Given the description of an element on the screen output the (x, y) to click on. 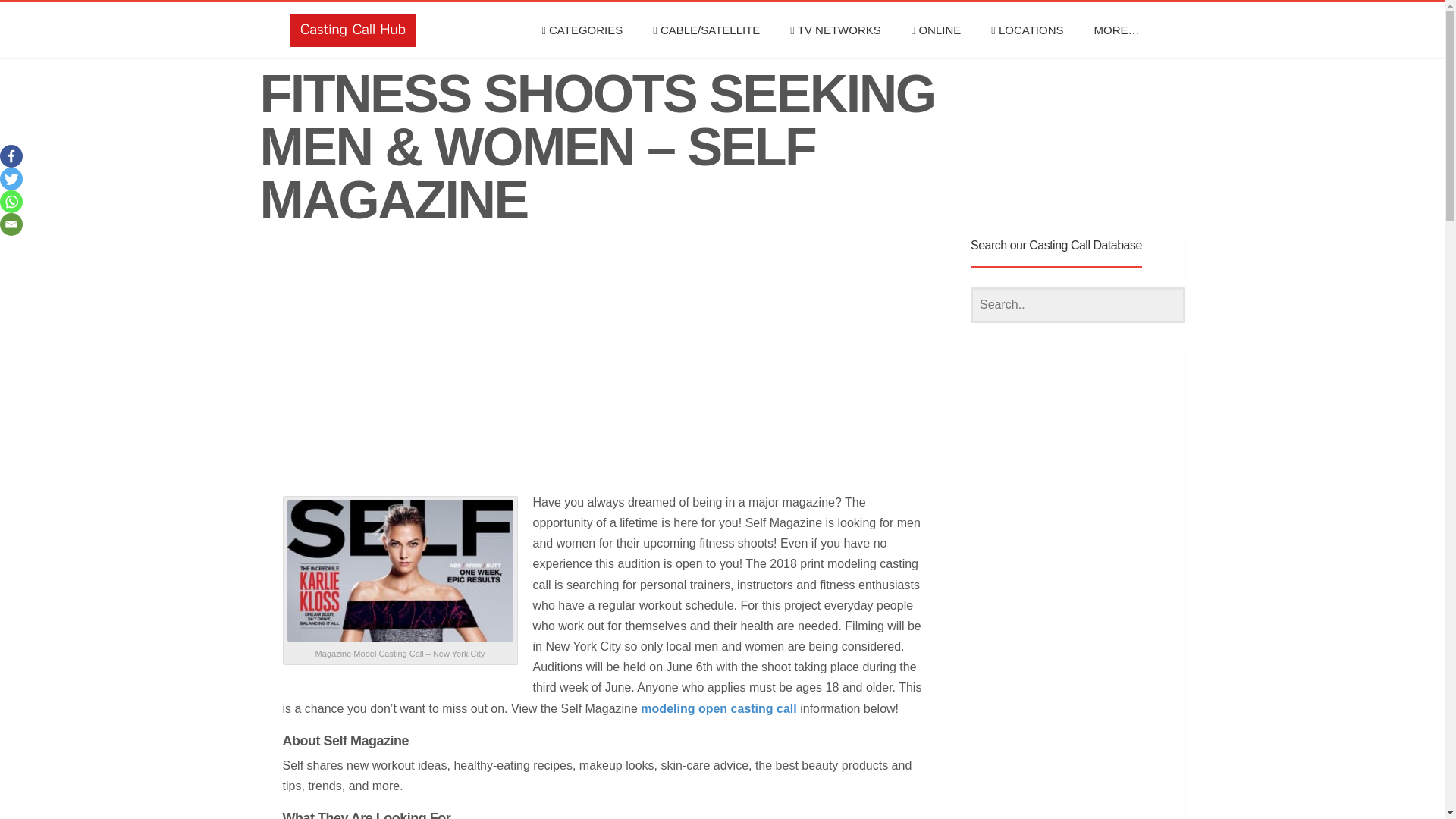
Whatsapp (11, 201)
Twitter (11, 178)
Facebook (11, 155)
Email (11, 223)
CATEGORIES (581, 29)
CastingCallHub.com (351, 30)
